Given the description of an element on the screen output the (x, y) to click on. 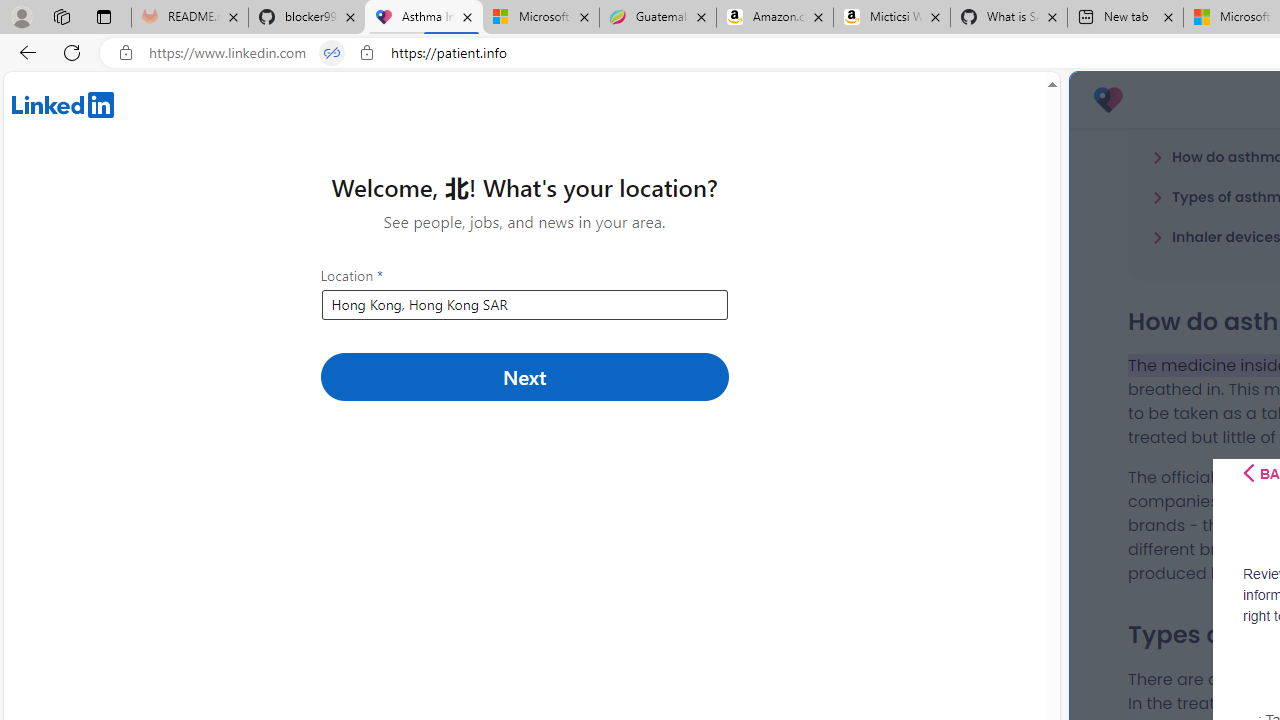
View site information (366, 53)
Back (24, 52)
Personal Profile (21, 16)
Patient 3.0 (1108, 100)
Asthma Inhalers: Names and Types (424, 17)
Workspaces (61, 16)
Close tab (1168, 16)
Microsoft-Report a Concern to Bing (540, 17)
Refresh (72, 52)
New tab (1124, 17)
Tabs in split screen (331, 53)
